Given the description of an element on the screen output the (x, y) to click on. 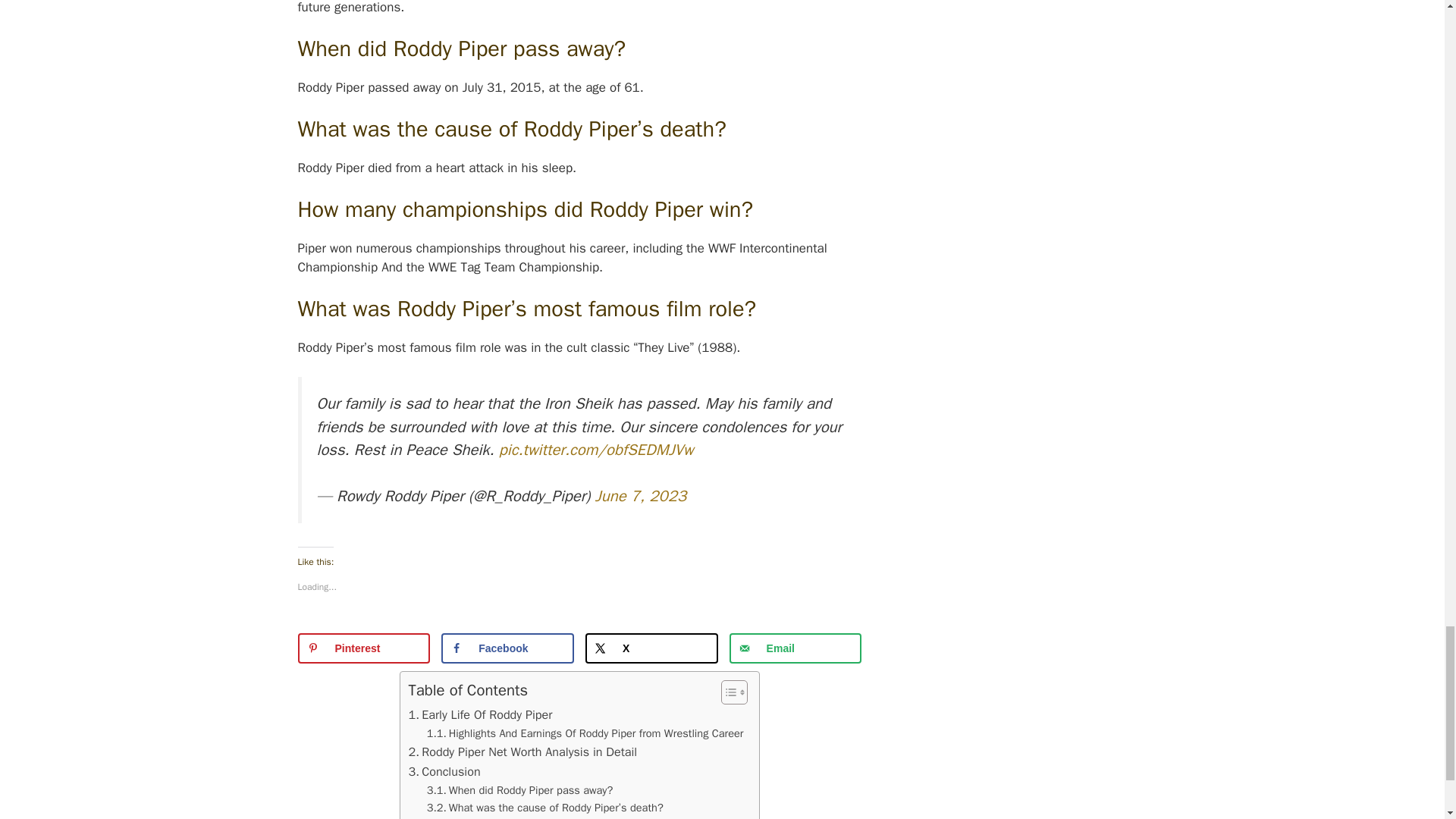
Email (795, 648)
Save to Pinterest (363, 648)
June 7, 2023 (641, 496)
Roddy Piper Net Worth Analysis in Detail (522, 752)
Send over email (795, 648)
Early Life Of Roddy Piper (479, 714)
Highlights And Earnings Of Roddy Piper from Wrestling Career (585, 733)
Early Life Of Roddy Piper (479, 714)
Facebook (507, 648)
Share on X (651, 648)
Share on Facebook (507, 648)
Highlights And Earnings Of Roddy Piper from Wrestling Career (585, 733)
Conclusion (443, 772)
When did Roddy Piper pass away? (519, 790)
